Given the description of an element on the screen output the (x, y) to click on. 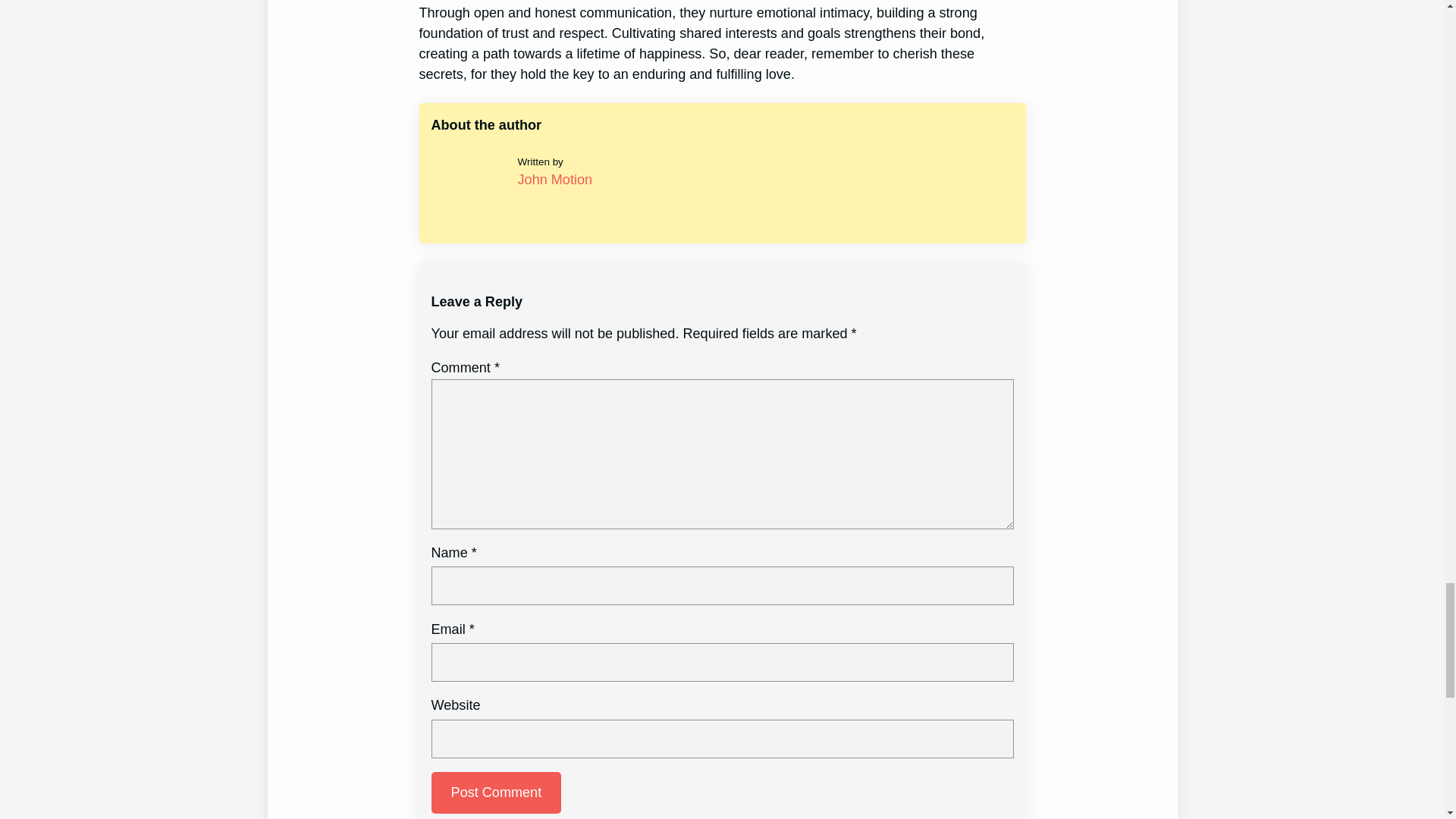
Post Comment (495, 793)
John Motion (555, 179)
Post Comment (495, 793)
